Given the description of an element on the screen output the (x, y) to click on. 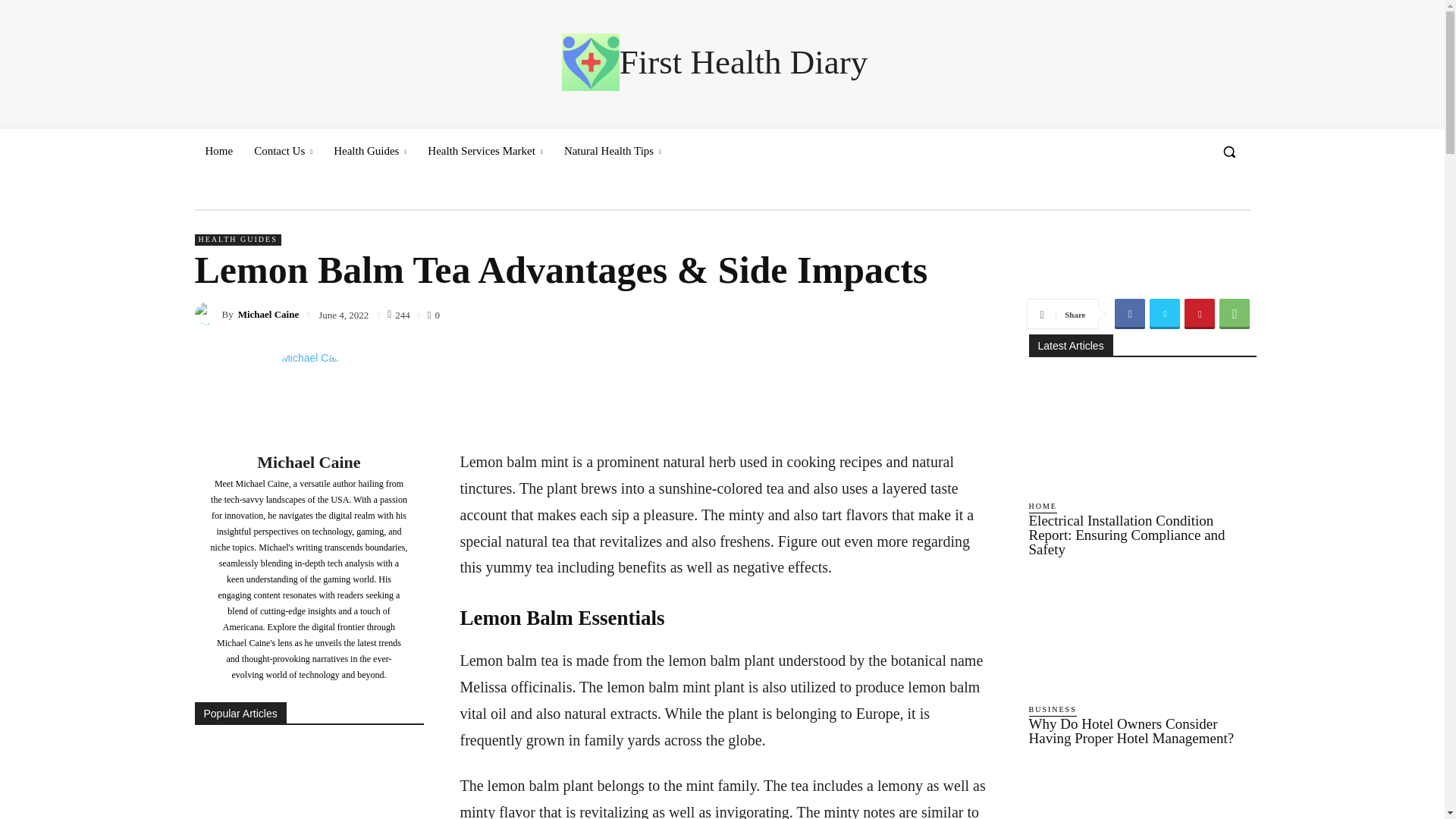
Michael Caine (309, 395)
Pinterest (1199, 313)
Health Services Market (484, 150)
Michael Caine (207, 313)
WhatsApp (1234, 313)
Health Guides (369, 150)
First Health Diary (713, 61)
Natural Health Tips (612, 150)
Facebook (1129, 313)
Twitter (1164, 313)
Home (218, 150)
Treat Erectile Dysfunction in a Quick and Convenient Way (308, 781)
Contact Us (283, 150)
